Given the description of an element on the screen output the (x, y) to click on. 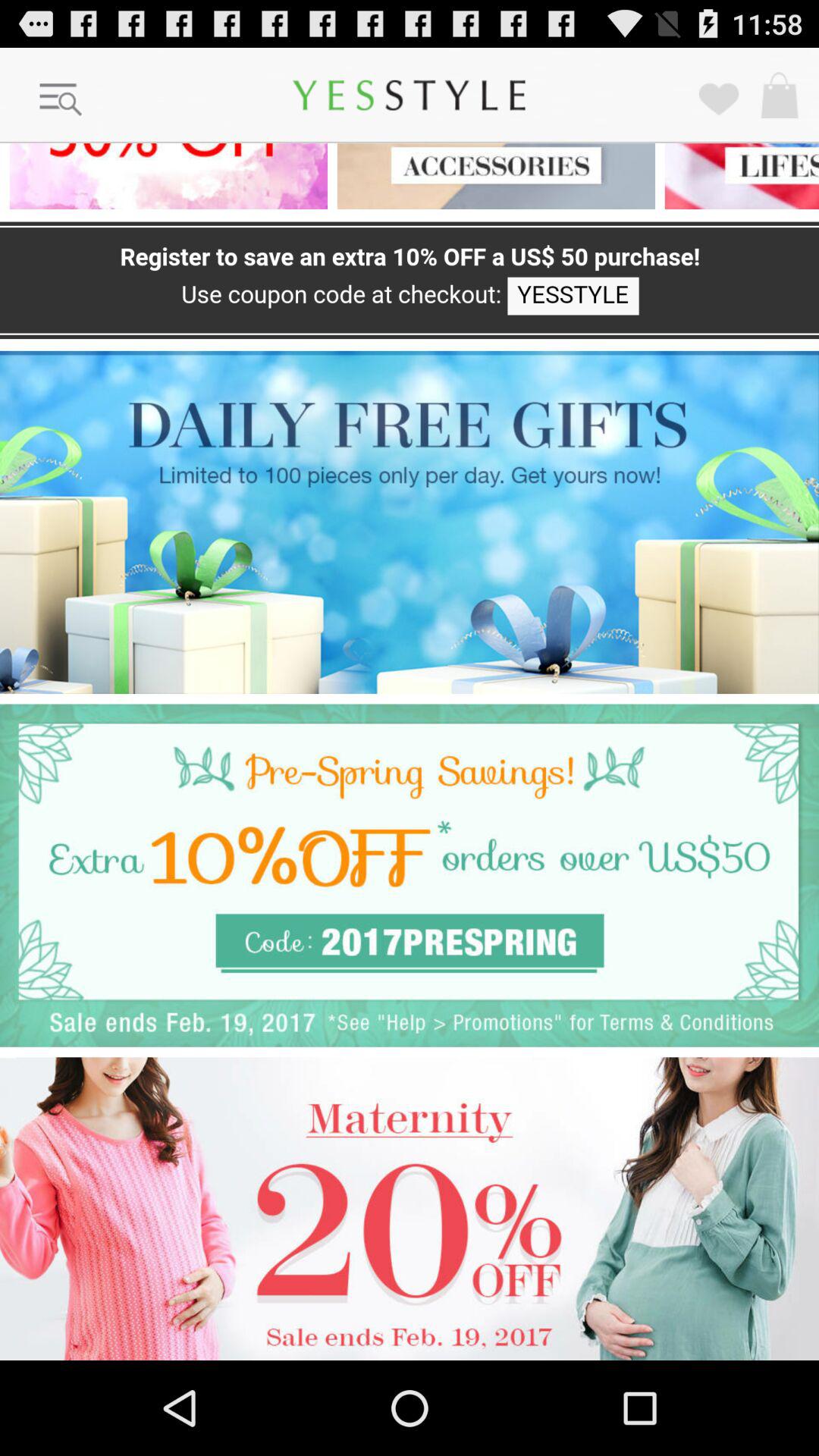
open new page (491, 176)
